Given the description of an element on the screen output the (x, y) to click on. 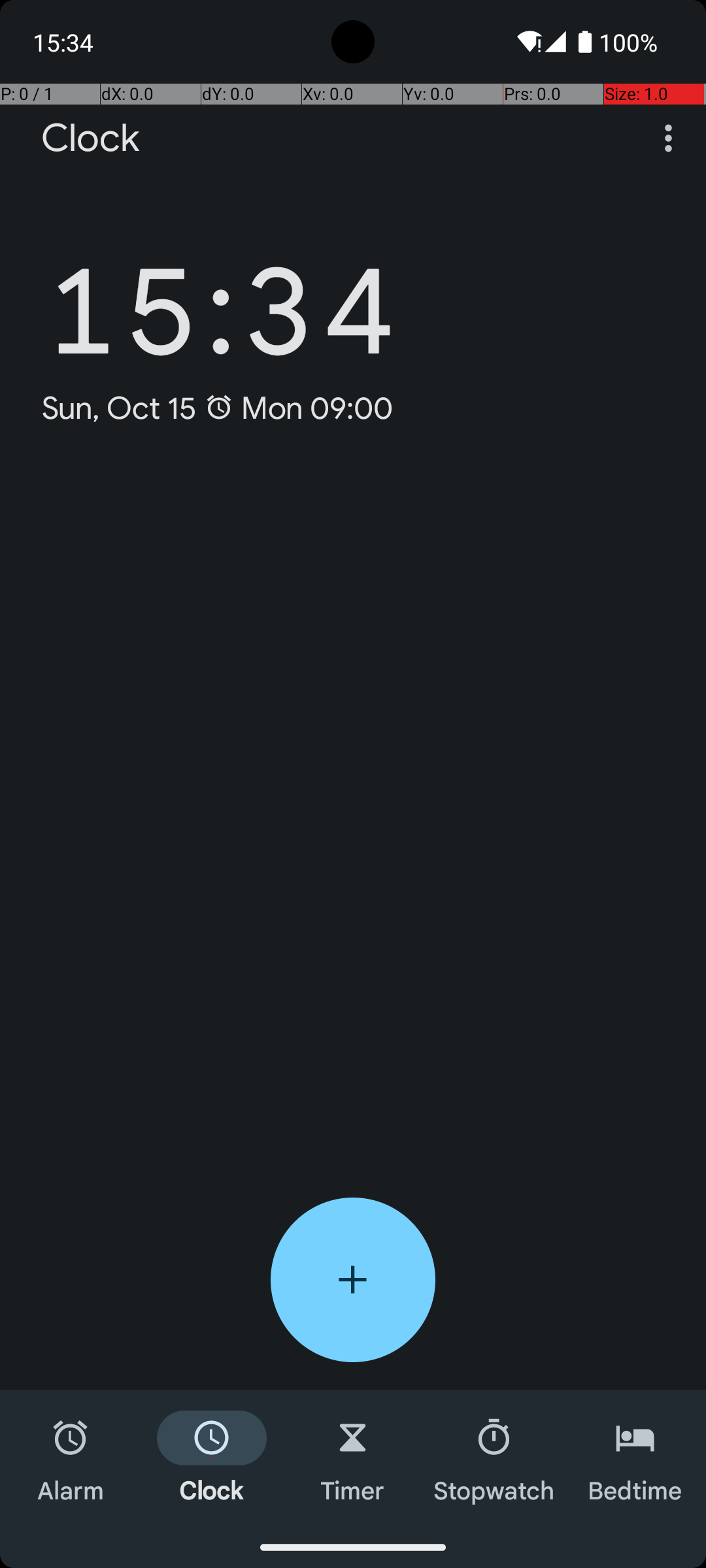
Sun, Oct 15 A Mon 09:00 Element type: android.widget.TextView (216, 407)
